Given the description of an element on the screen output the (x, y) to click on. 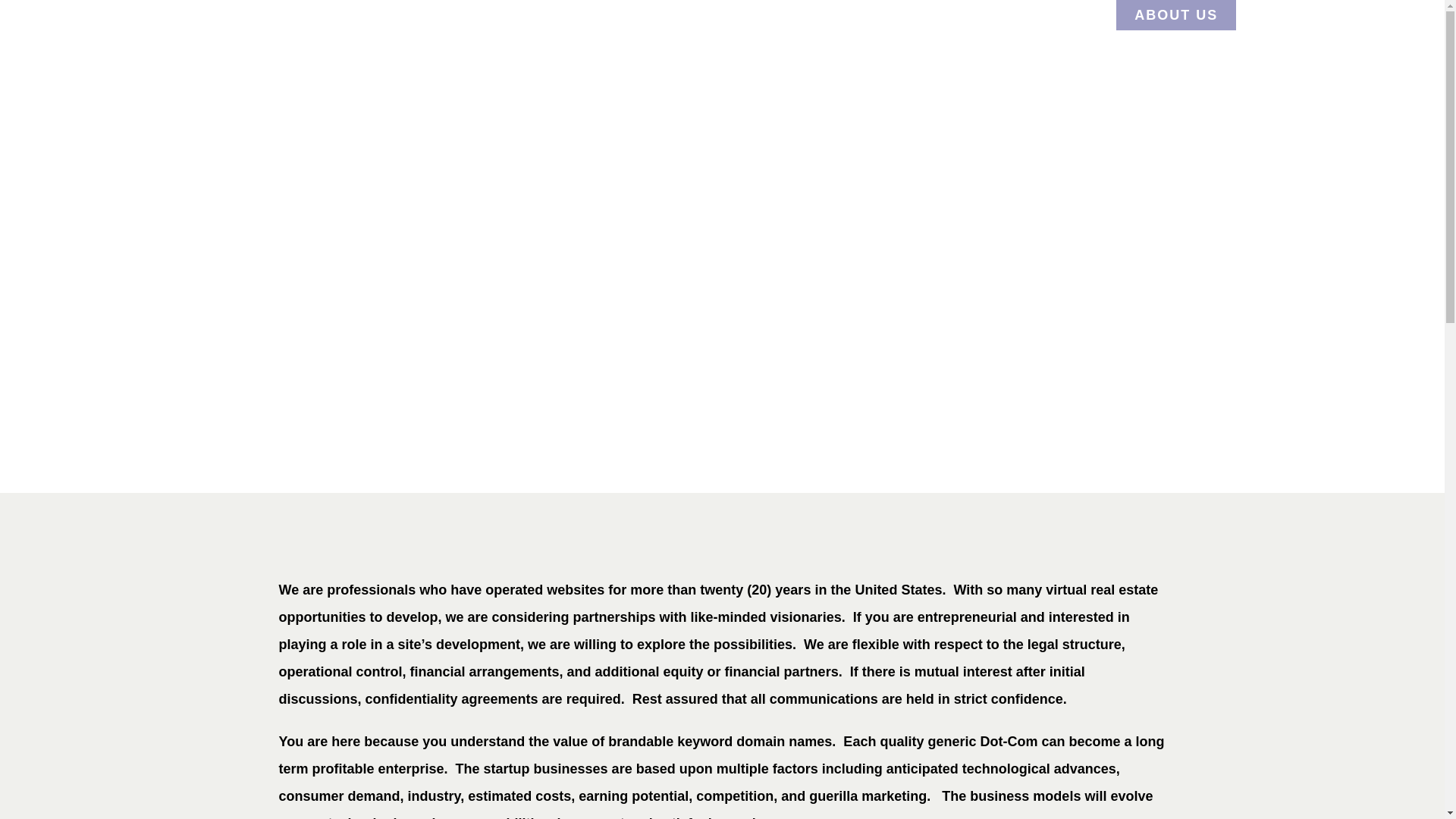
CONTACT US (1305, 15)
HOME (952, 15)
PROJECTS (1055, 15)
ABOUT US (1176, 15)
